Given the description of an element on the screen output the (x, y) to click on. 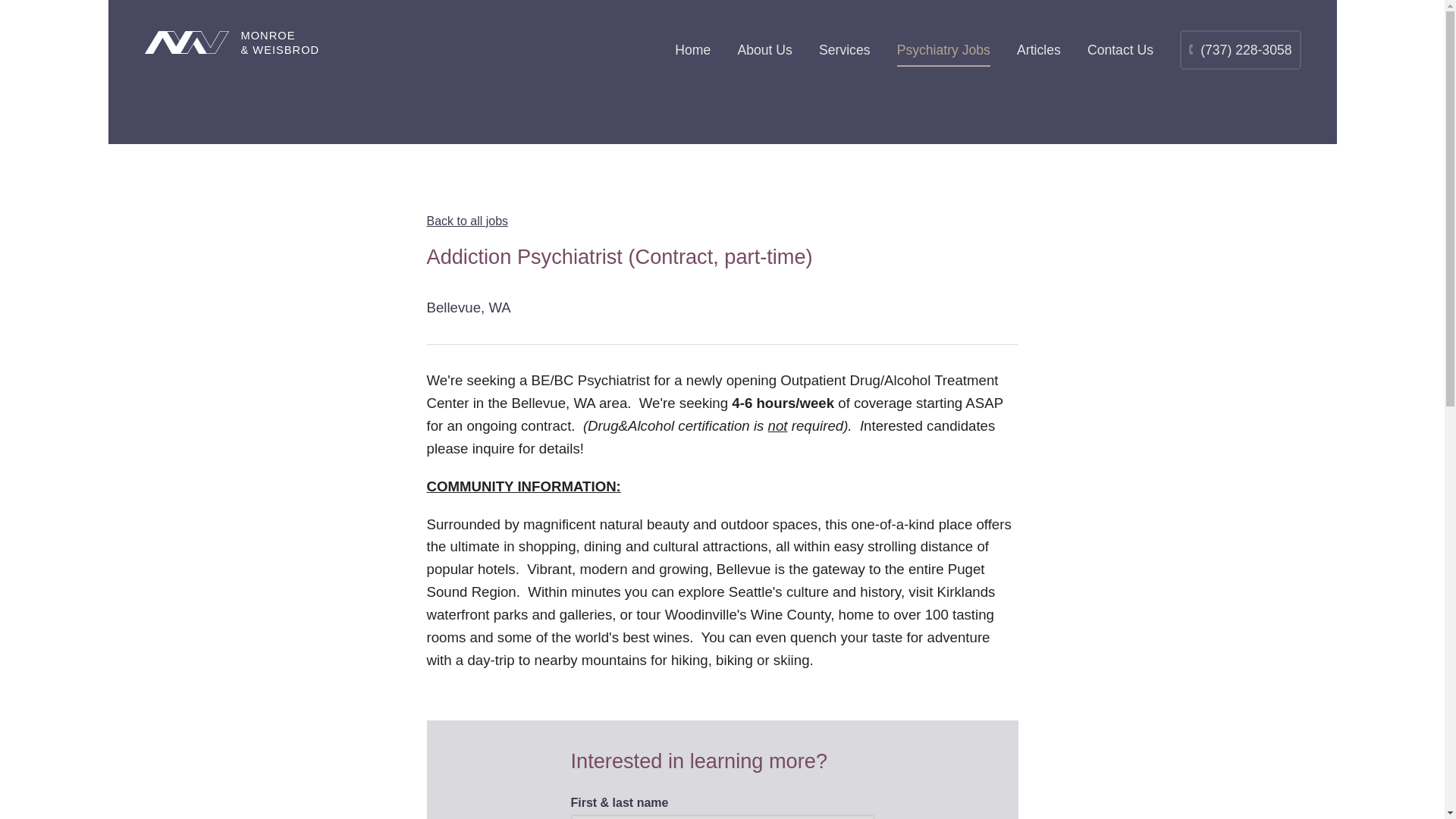
Back to all jobs (467, 220)
About Us (764, 51)
Contact Us (1120, 51)
Home (692, 51)
Articles (1038, 51)
Psychiatry Jobs (943, 52)
Services (843, 51)
